Given the description of an element on the screen output the (x, y) to click on. 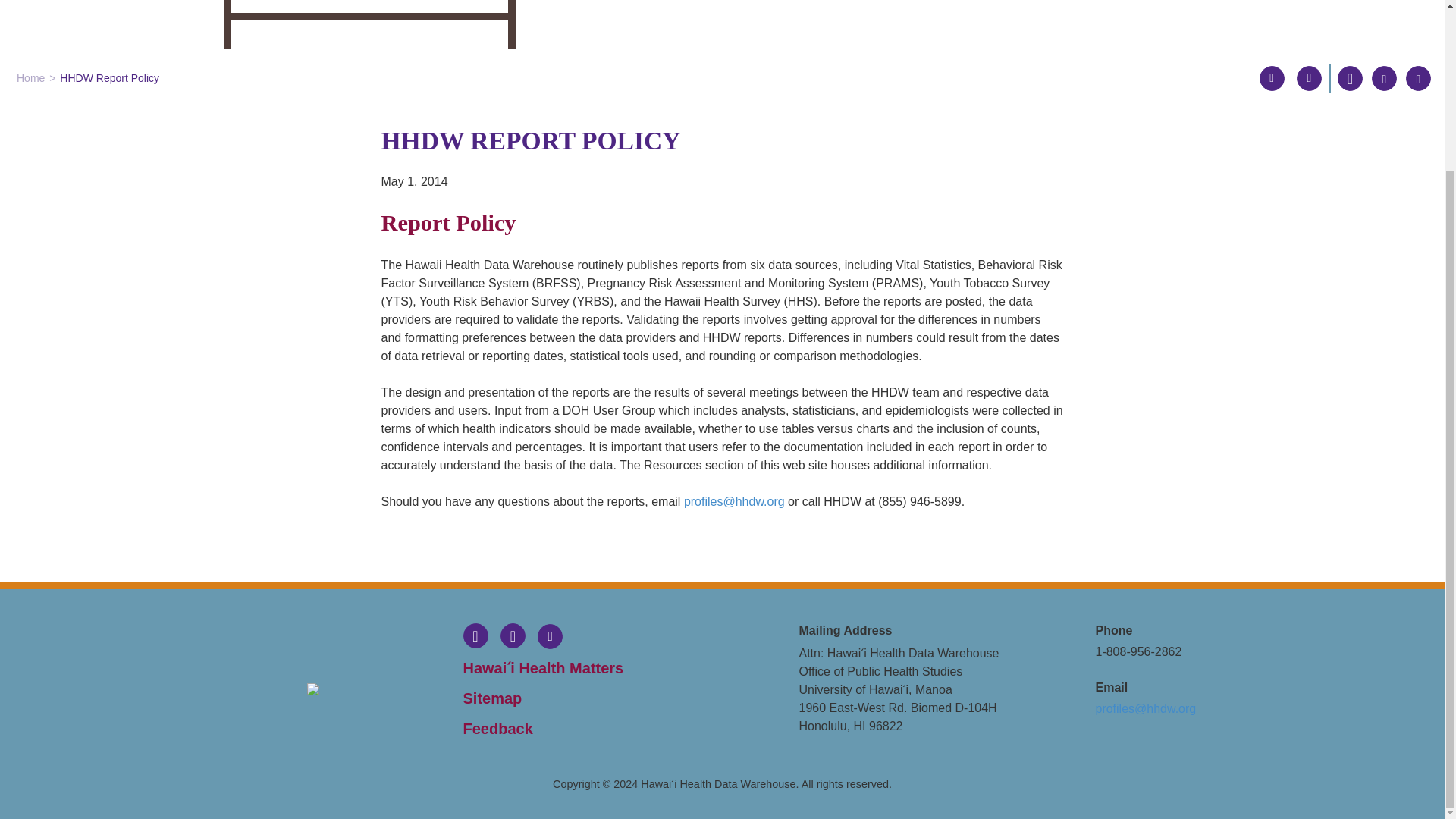
View our YouTube channel (549, 636)
Share this page on Twitter (1383, 78)
HHDW Report Policy (108, 78)
Sitemap (585, 698)
Home (30, 78)
View our Facebook page (475, 636)
Share this page on LinkedIn (1417, 78)
Email this page's URL (1271, 78)
Feedback (585, 728)
Share this page on Facebook (1350, 78)
